Given the description of an element on the screen output the (x, y) to click on. 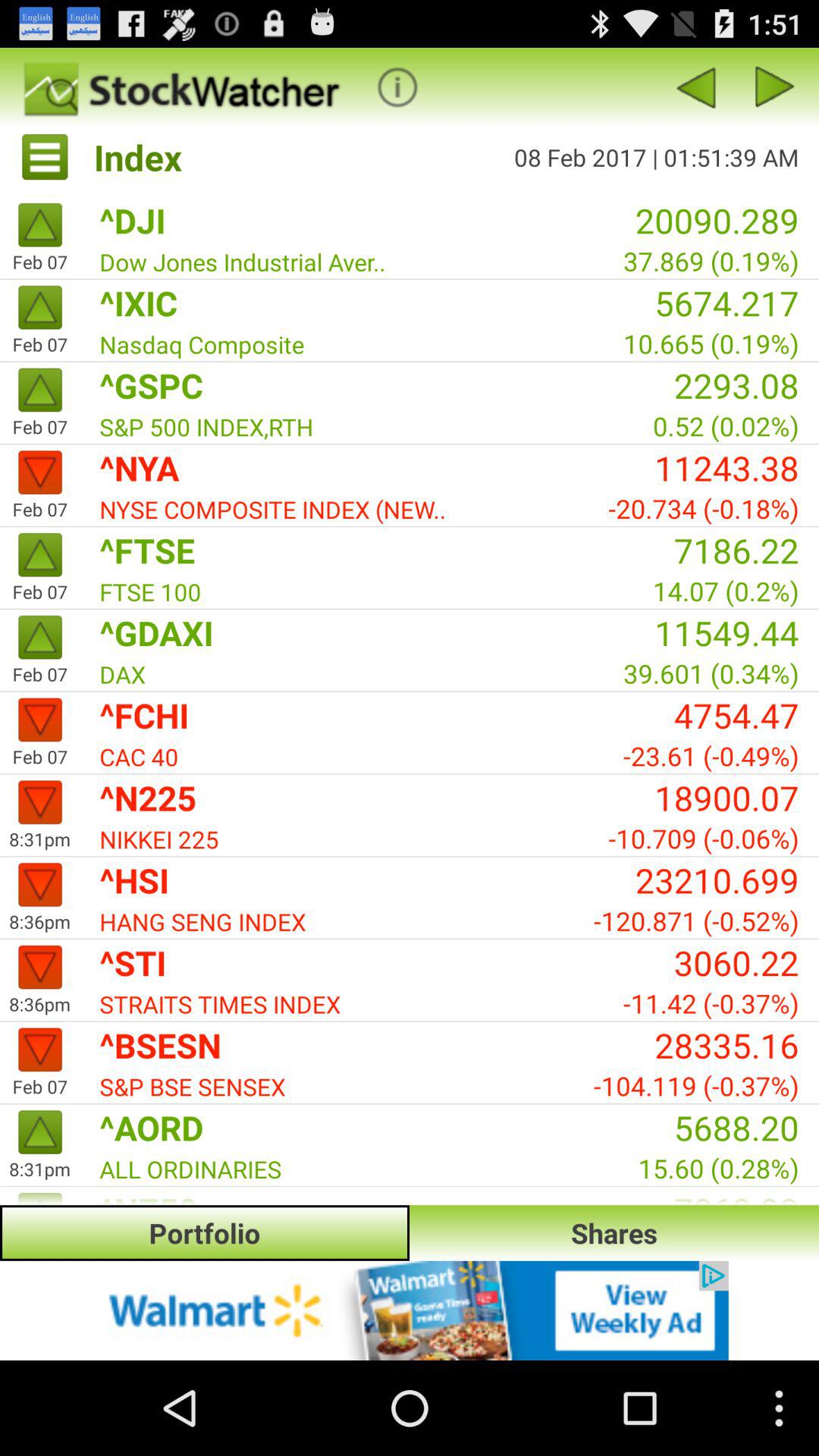
go to previous (695, 87)
